Given the description of an element on the screen output the (x, y) to click on. 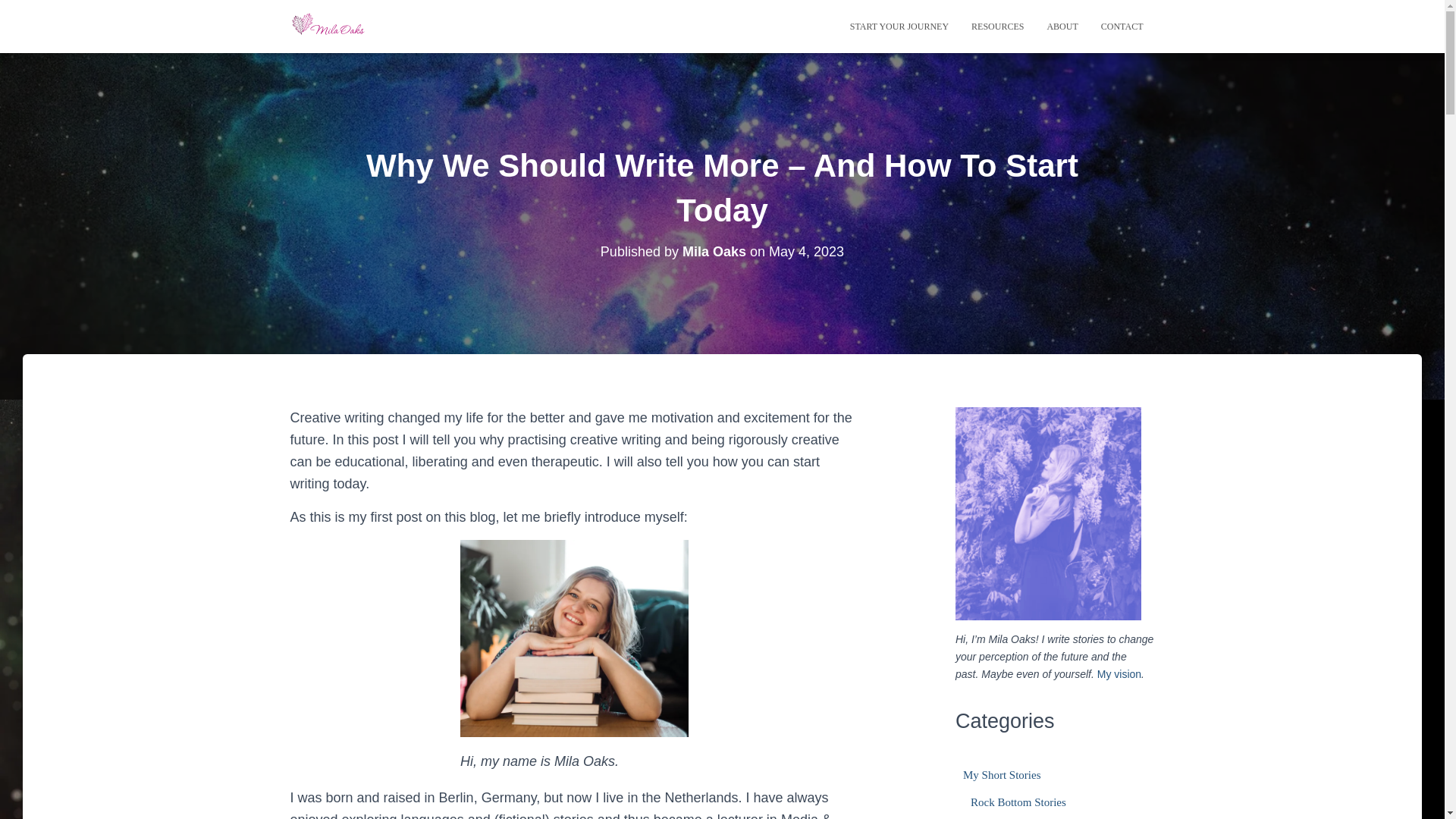
Contact (1121, 26)
Start your journey (898, 26)
Resources (997, 26)
My vision (1119, 674)
Rock Bottom Stories (1018, 802)
START YOUR JOURNEY (898, 26)
CONTACT (1121, 26)
ABOUT (1062, 26)
RESOURCES (997, 26)
About (1062, 26)
